Given the description of an element on the screen output the (x, y) to click on. 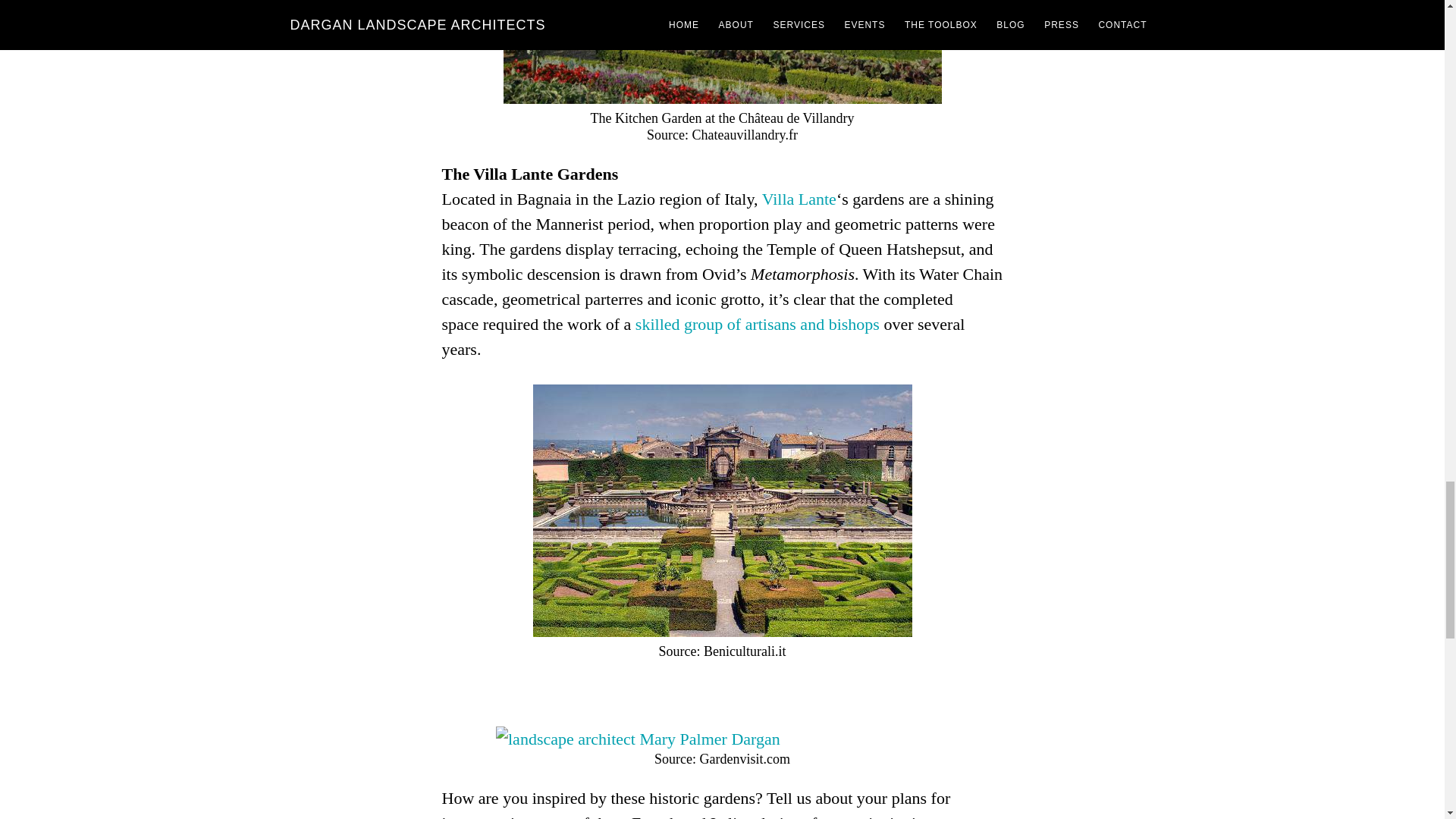
Villa Lante garden (721, 510)
screen shot of Villa Lante (638, 738)
Villa Lante (798, 198)
skilled group of artisans and bishops (756, 323)
The Kitchen Garden at Villandry (722, 52)
